Given the description of an element on the screen output the (x, y) to click on. 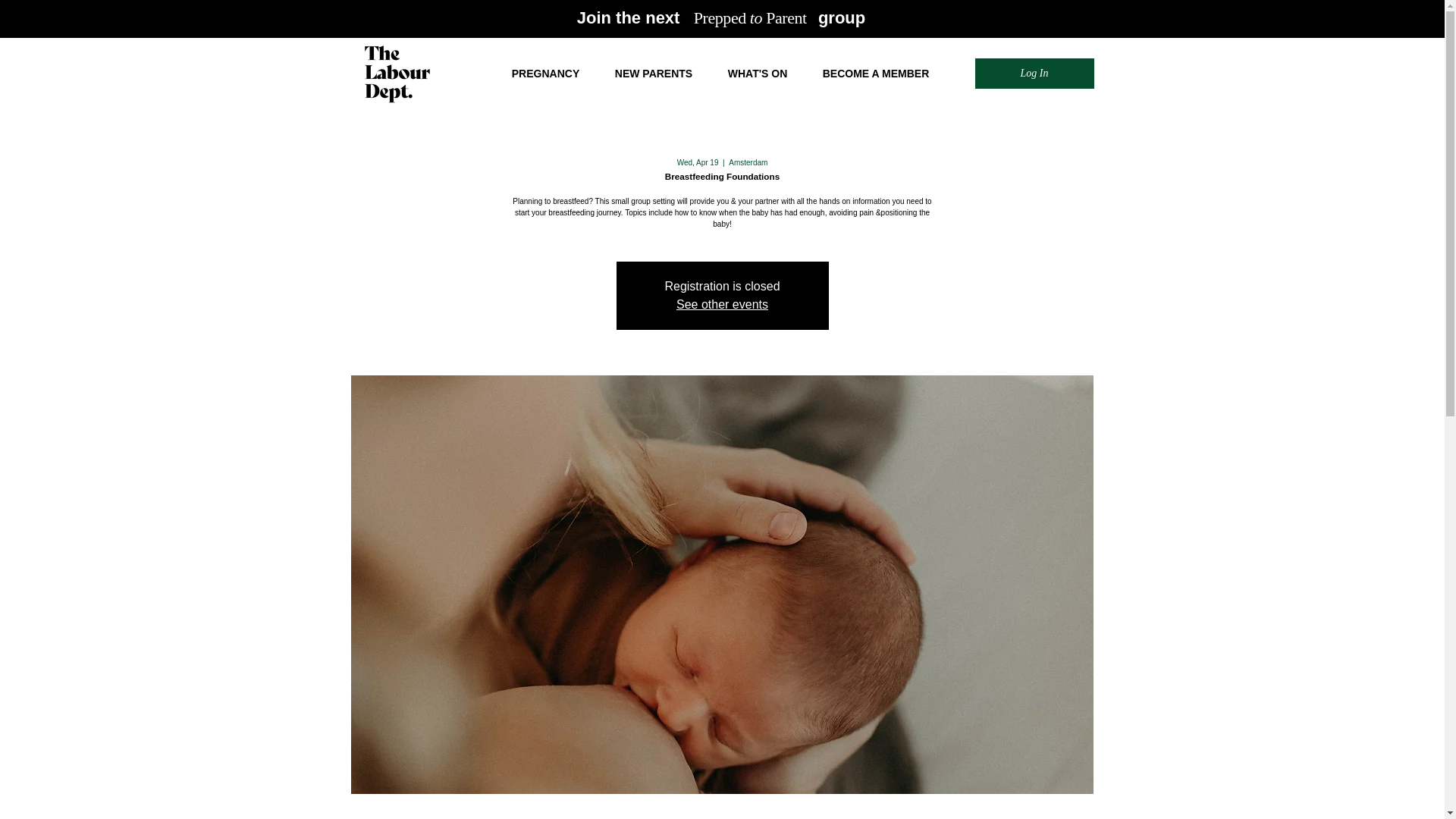
BECOME A MEMBER (876, 73)
See other events (722, 304)
Prepped to Parent   group (779, 17)
Log In (1034, 73)
WHAT'S ON (757, 73)
NEW PARENTS (653, 73)
Join the next    (635, 17)
PREGNANCY (545, 73)
